Given the description of an element on the screen output the (x, y) to click on. 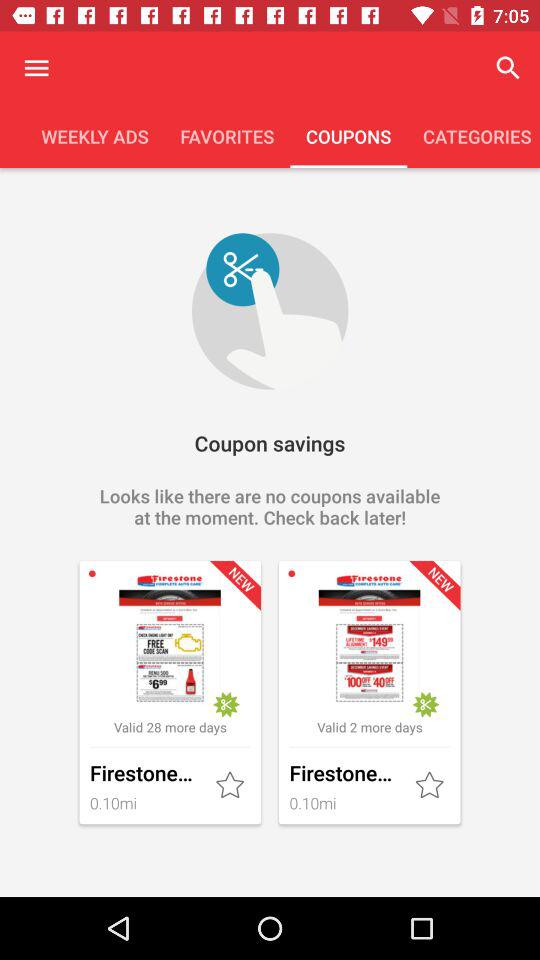
launch icon above categories (508, 67)
